Given the description of an element on the screen output the (x, y) to click on. 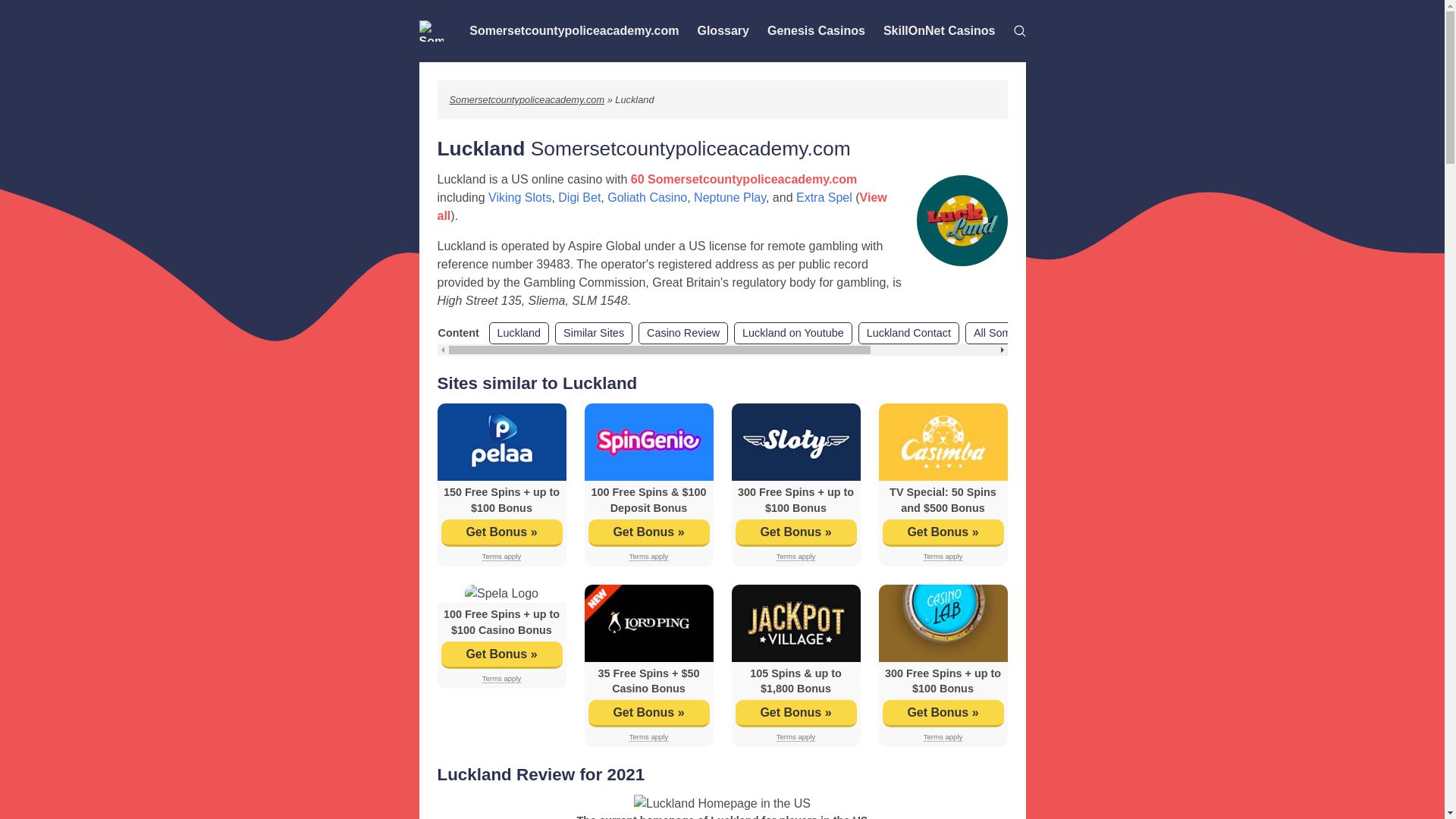
Glossary (722, 30)
Spela Logo (501, 593)
Luckland on Youtube (792, 333)
Pelaa Casino Logo (501, 441)
Lord Ping Logo (648, 622)
Goliath Casino (647, 196)
Somersetcountypoliceacademy.com (573, 30)
Digi Bet (578, 196)
Jackpot Village Logo (795, 622)
SkillOnNet Casinos (939, 30)
